Given the description of an element on the screen output the (x, y) to click on. 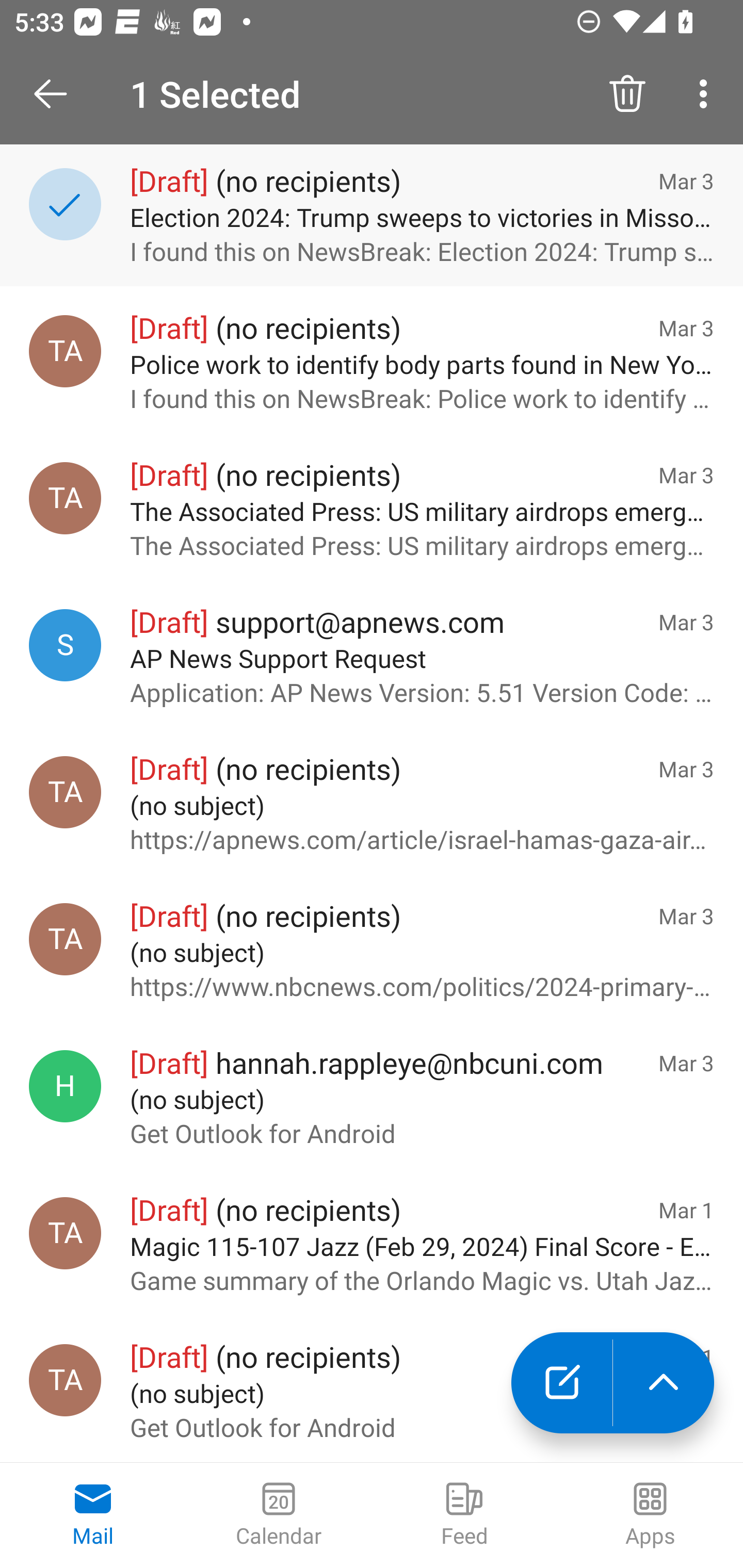
Delete (626, 93)
More options (706, 93)
Open Navigation Drawer (57, 94)
Test Appium, testappium002@outlook.com (64, 351)
Test Appium, testappium002@outlook.com (64, 498)
support@apnews.com (64, 645)
Test Appium, testappium002@outlook.com (64, 791)
Test Appium, testappium002@outlook.com (64, 939)
hannah.rappleye@nbcuni.com (64, 1086)
Test Appium, testappium002@outlook.com (64, 1233)
New mail (561, 1382)
launch the extended action menu (663, 1382)
Test Appium, testappium002@outlook.com (64, 1379)
Calendar (278, 1515)
Feed (464, 1515)
Apps (650, 1515)
